Given the description of an element on the screen output the (x, y) to click on. 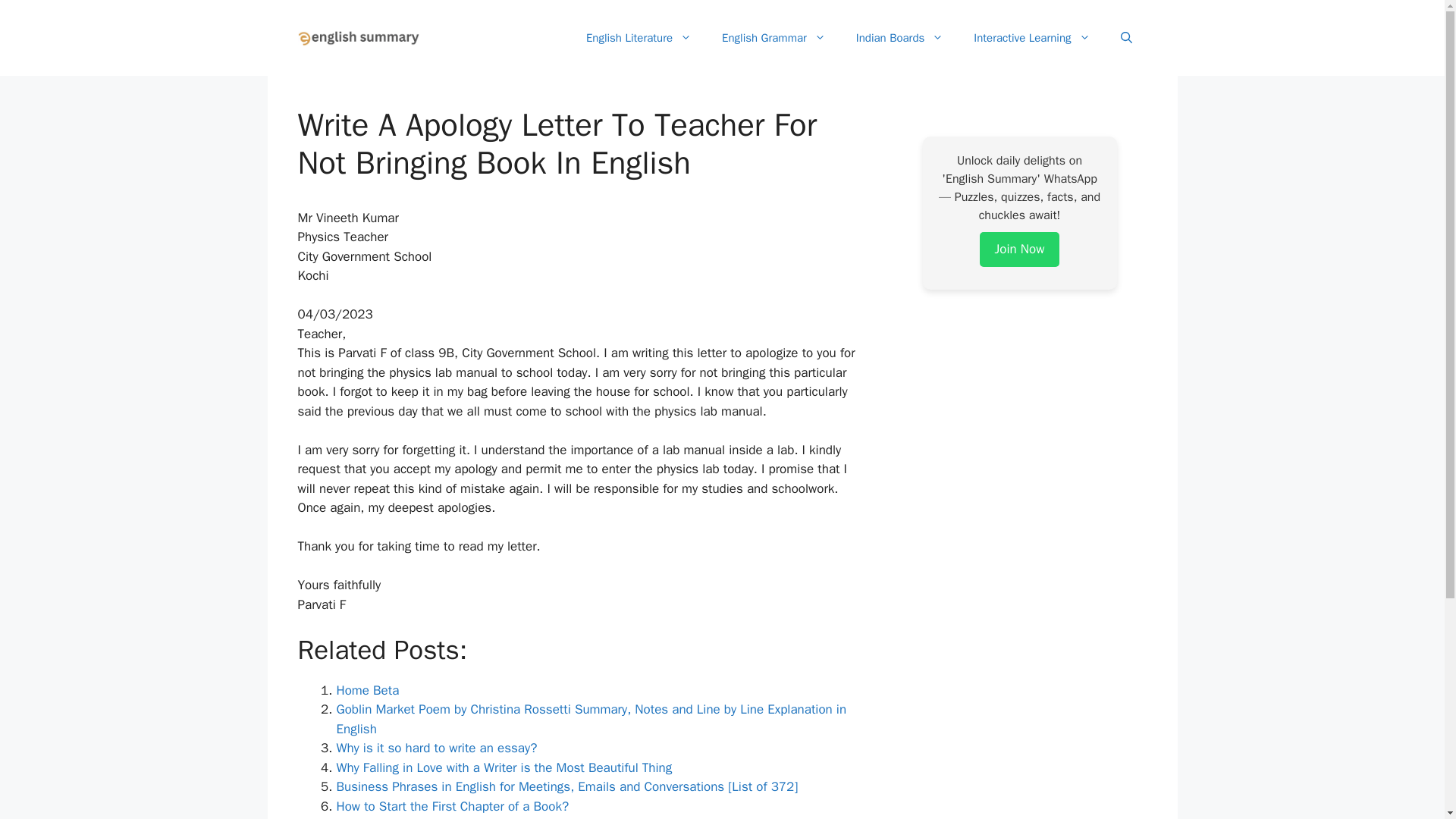
Interactive Learning (1031, 37)
English Grammar (773, 37)
English Literature (638, 37)
Indian Boards (899, 37)
